Given the description of an element on the screen output the (x, y) to click on. 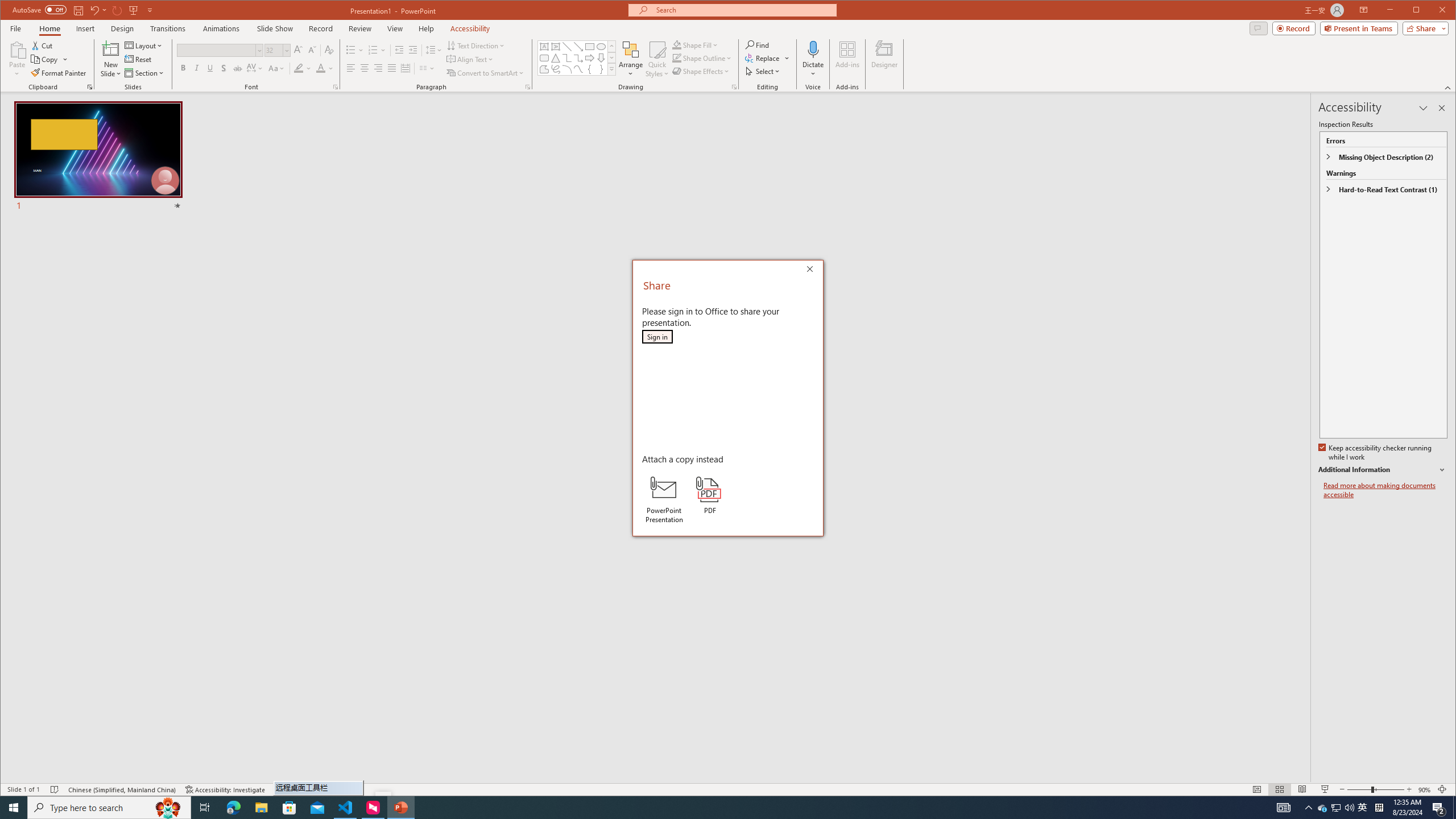
Convert to SmartArt (1362, 807)
Rectangle (485, 72)
Connector: Elbow (589, 46)
Text Box (567, 57)
Find... (544, 46)
Arrow: Down (758, 44)
Maximize (601, 57)
